Given the description of an element on the screen output the (x, y) to click on. 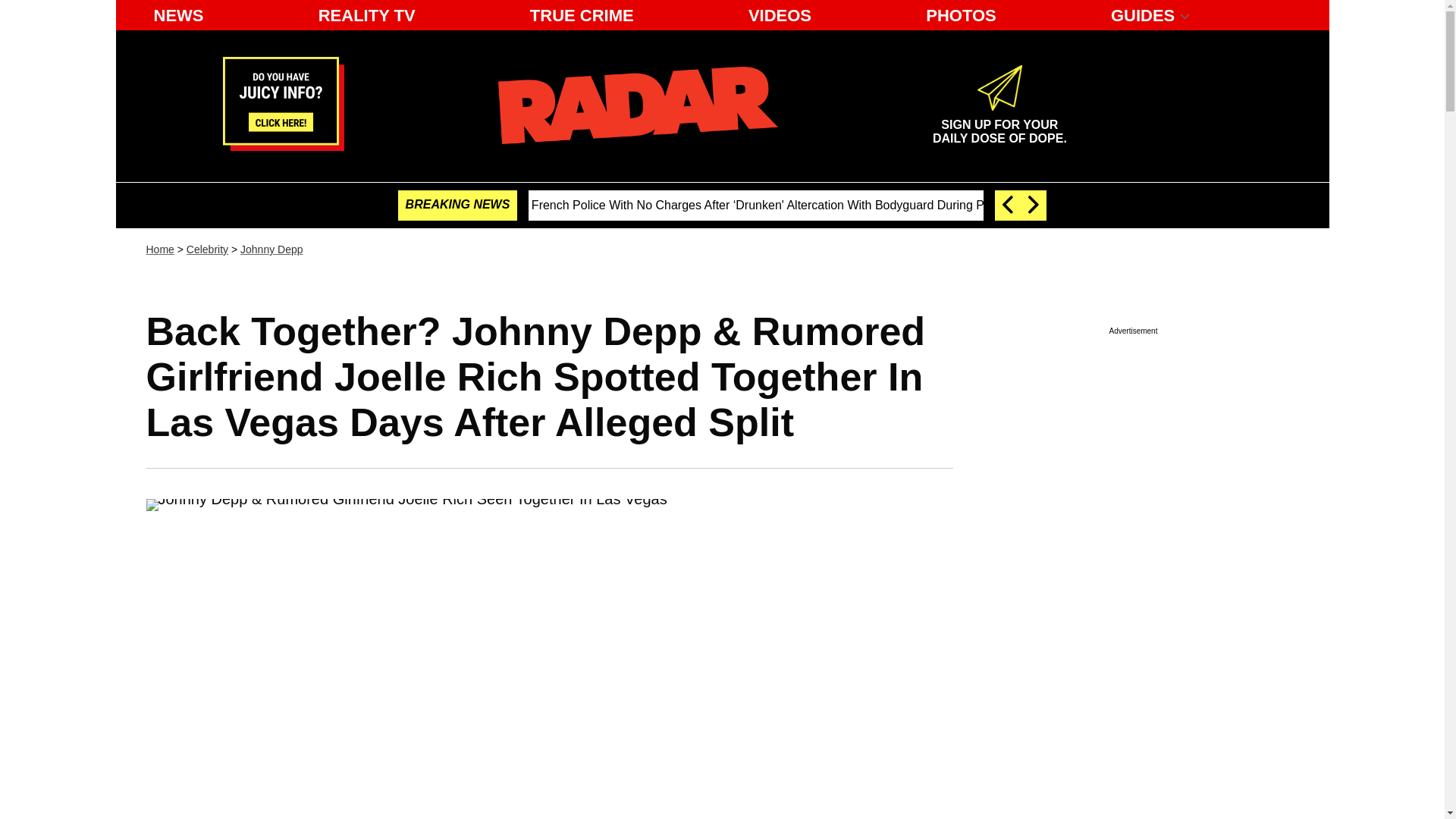
Home (159, 249)
NEWS (178, 15)
Radar Online (637, 105)
Email us your tip (282, 146)
TRUE CRIME (582, 15)
REALITY TV (367, 15)
Celebrity (207, 249)
VIDEOS (779, 15)
Sign up for your daily dose of dope. (999, 124)
PHOTOS (961, 15)
